Given the description of an element on the screen output the (x, y) to click on. 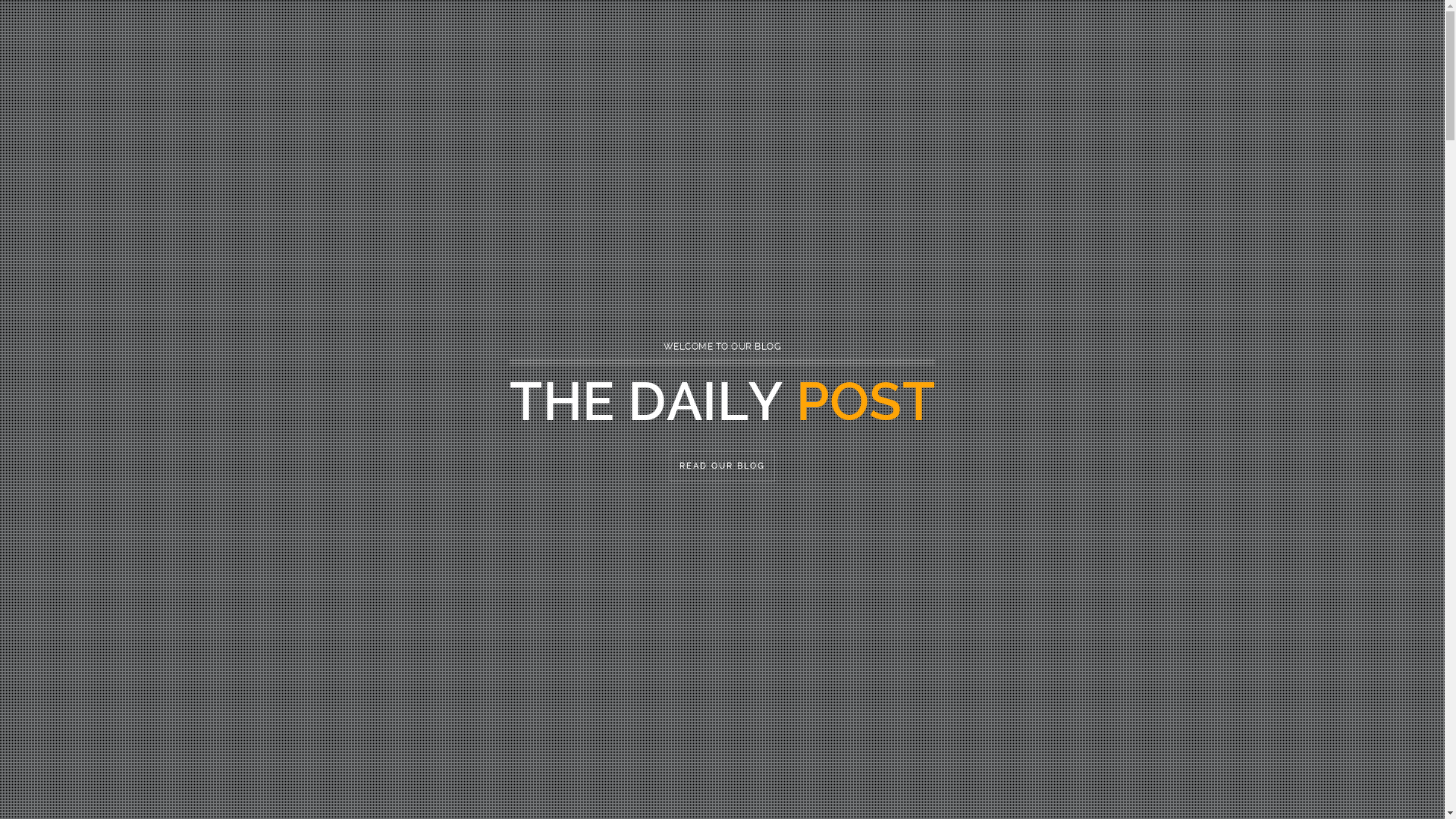
READ OUR BLOG Element type: text (722, 466)
